Given the description of an element on the screen output the (x, y) to click on. 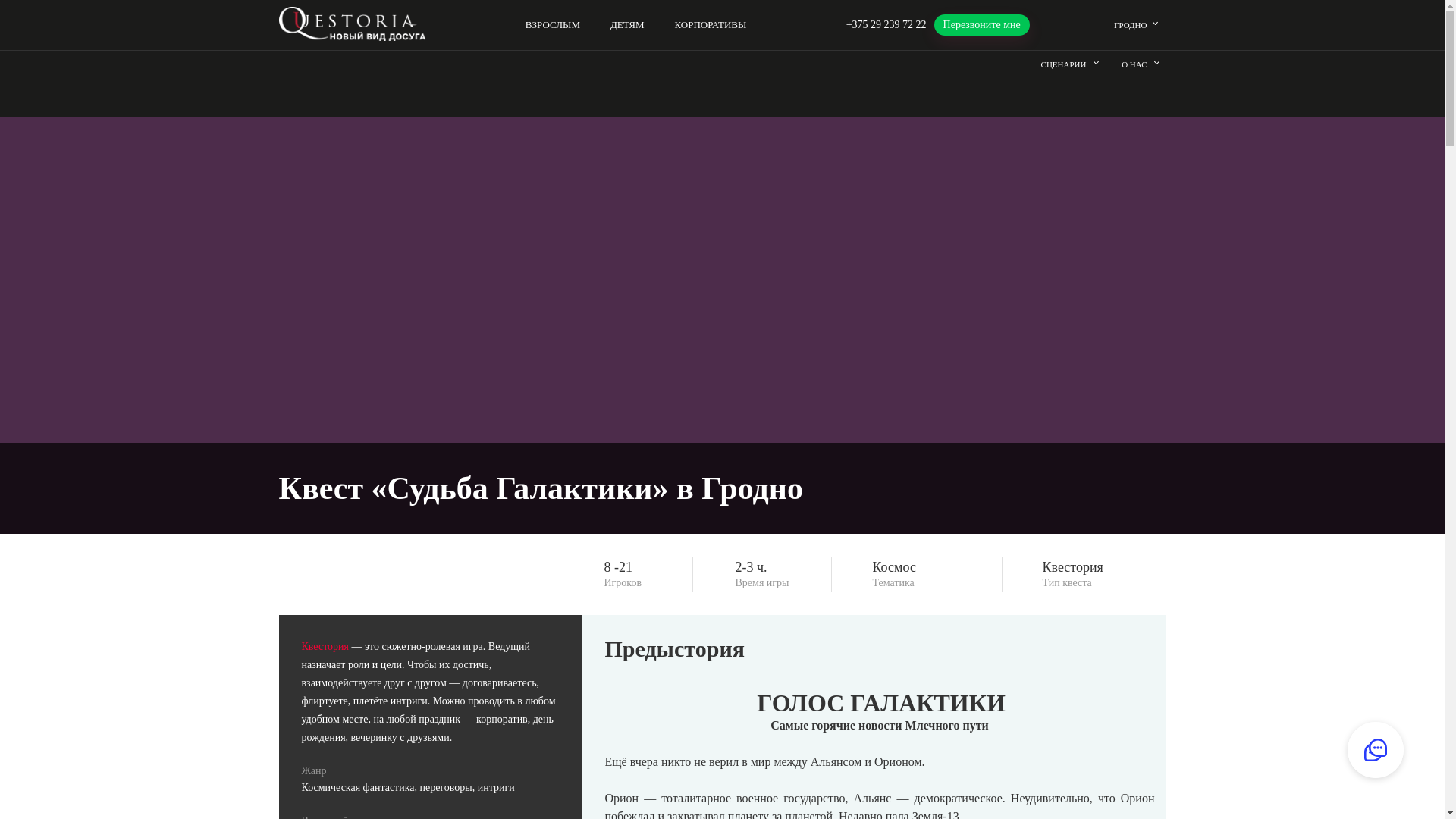
+375 29 239 72 22 Element type: text (886, 24)
